Given the description of an element on the screen output the (x, y) to click on. 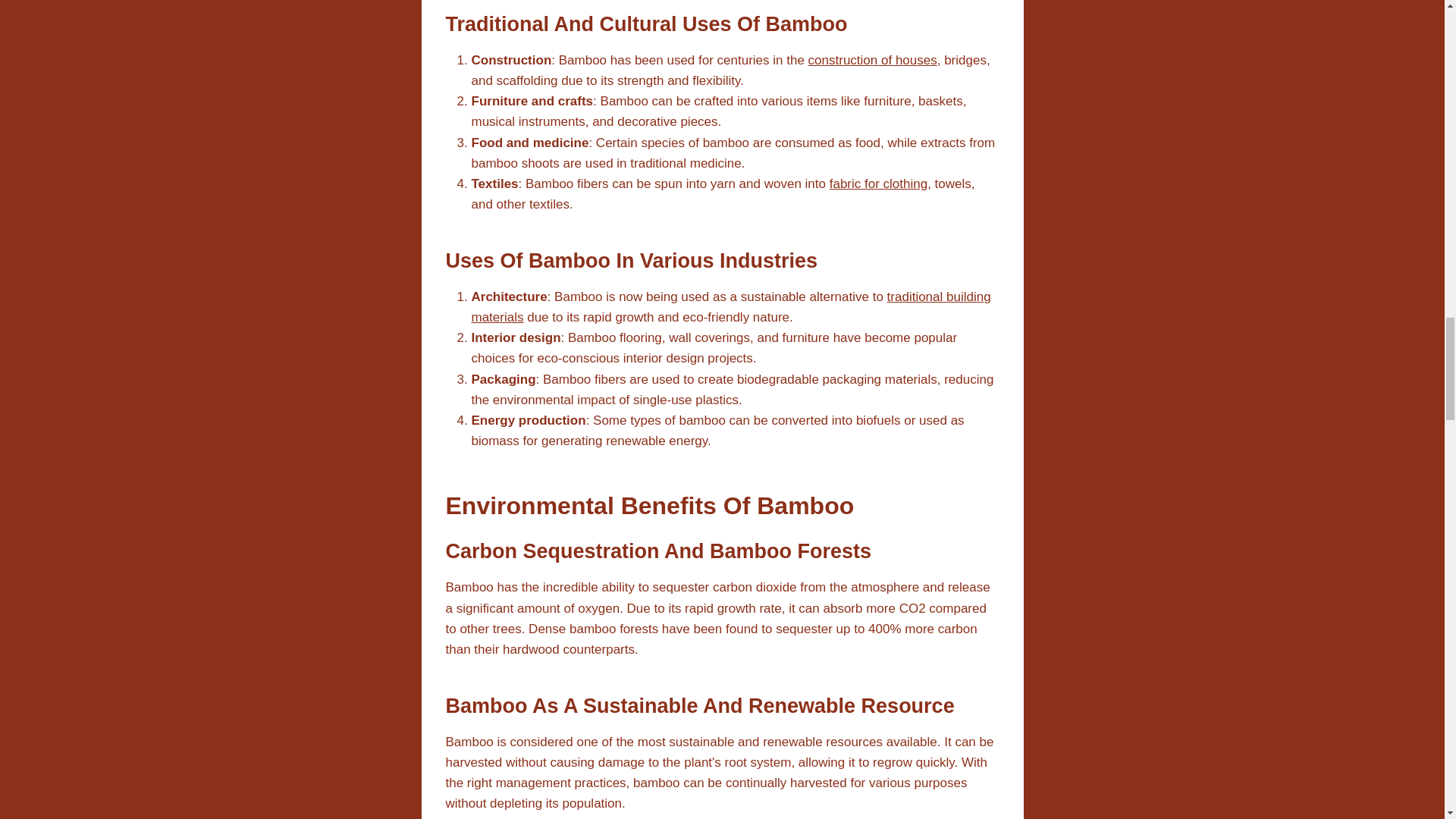
construction of houses (872, 60)
fabric for clothing (878, 183)
traditional building materials (731, 306)
